Given the description of an element on the screen output the (x, y) to click on. 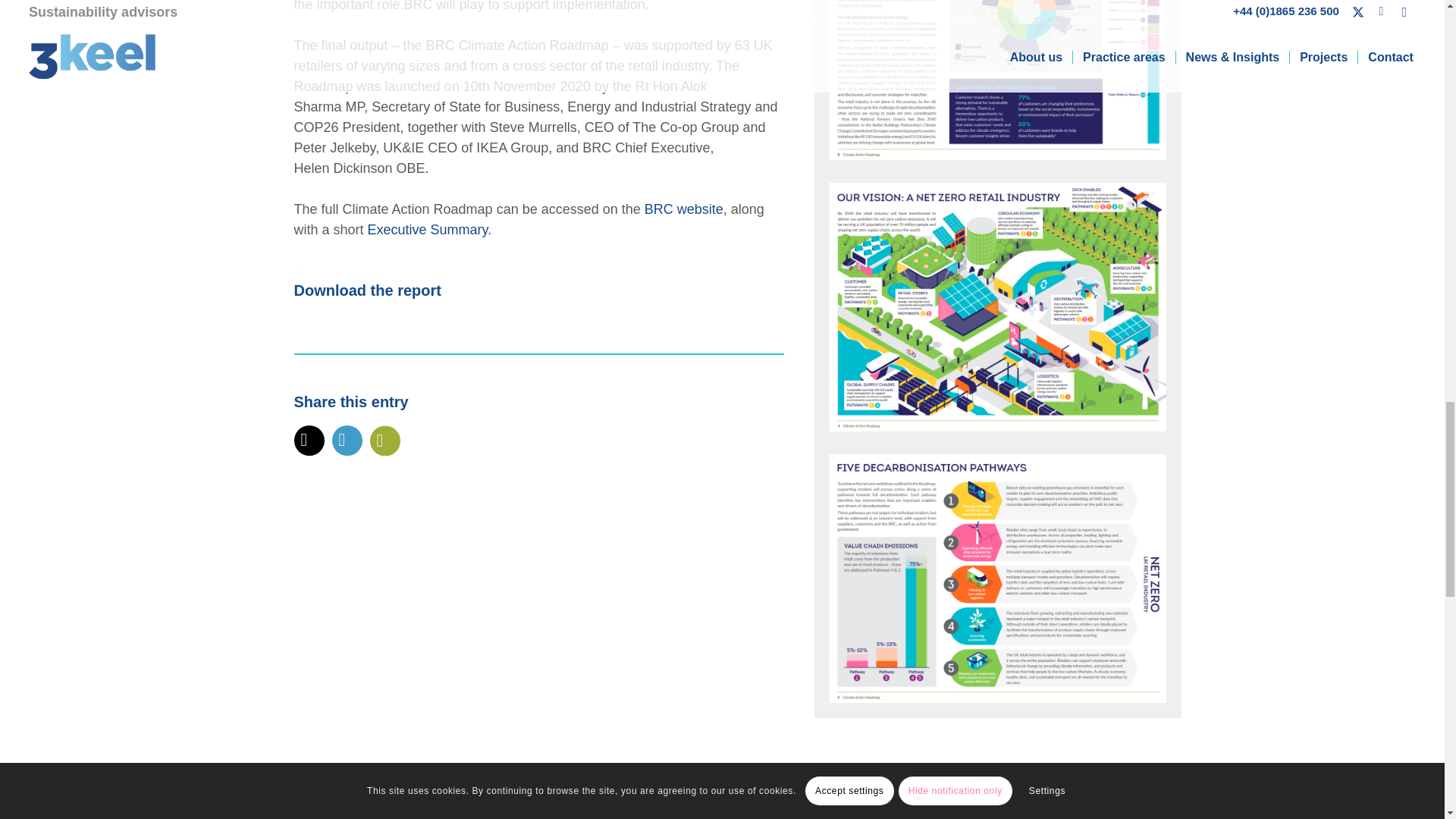
BRC website (684, 209)
Executive Summary (427, 229)
pathways (997, 578)
city (997, 306)
